Given the description of an element on the screen output the (x, y) to click on. 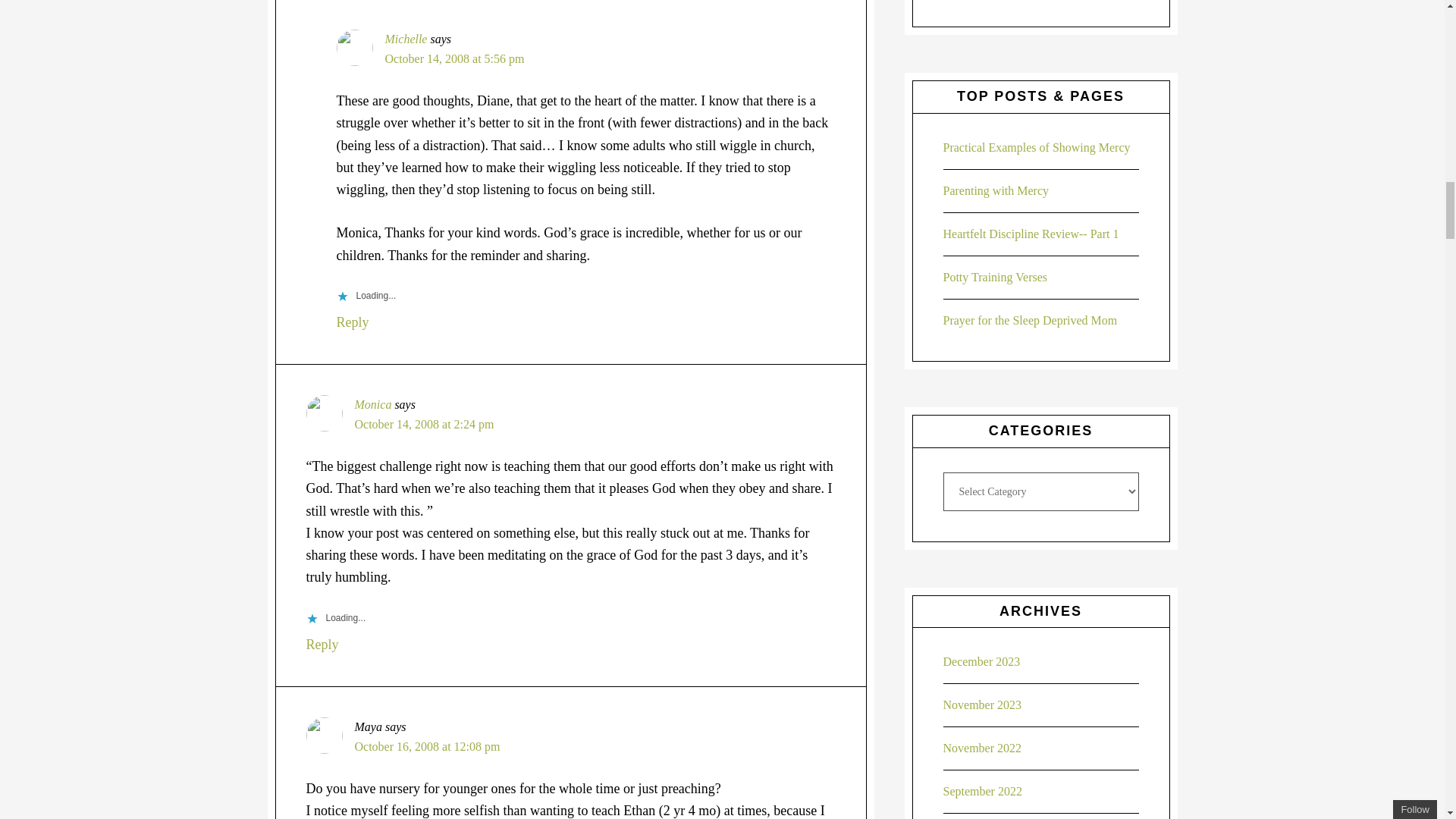
Michelle (406, 38)
Reply (352, 322)
October 14, 2008 at 5:56 pm (454, 58)
October 14, 2008 at 2:24 pm (425, 423)
Monica (373, 404)
